Given the description of an element on the screen output the (x, y) to click on. 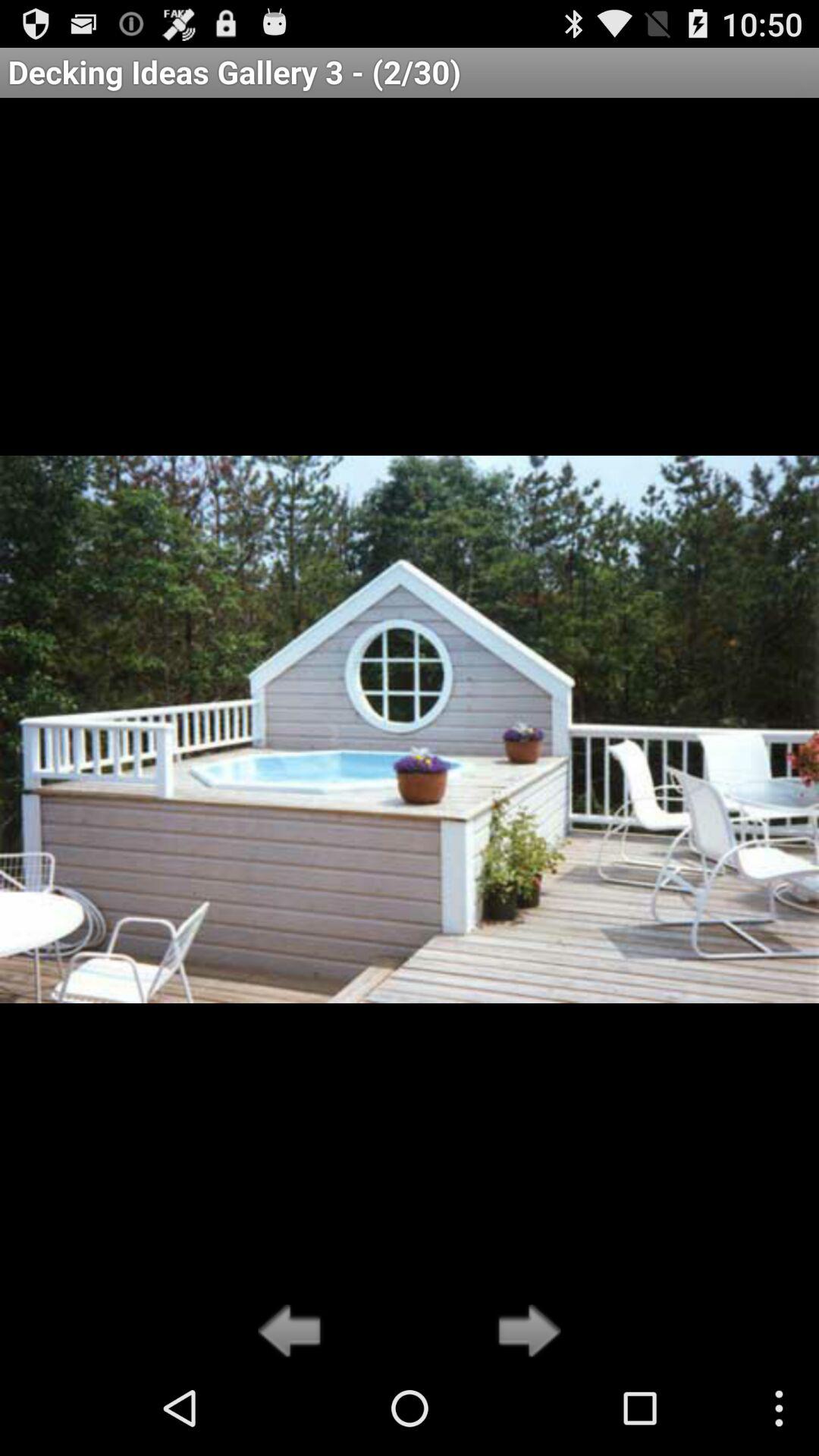
go to next (524, 1332)
